Given the description of an element on the screen output the (x, y) to click on. 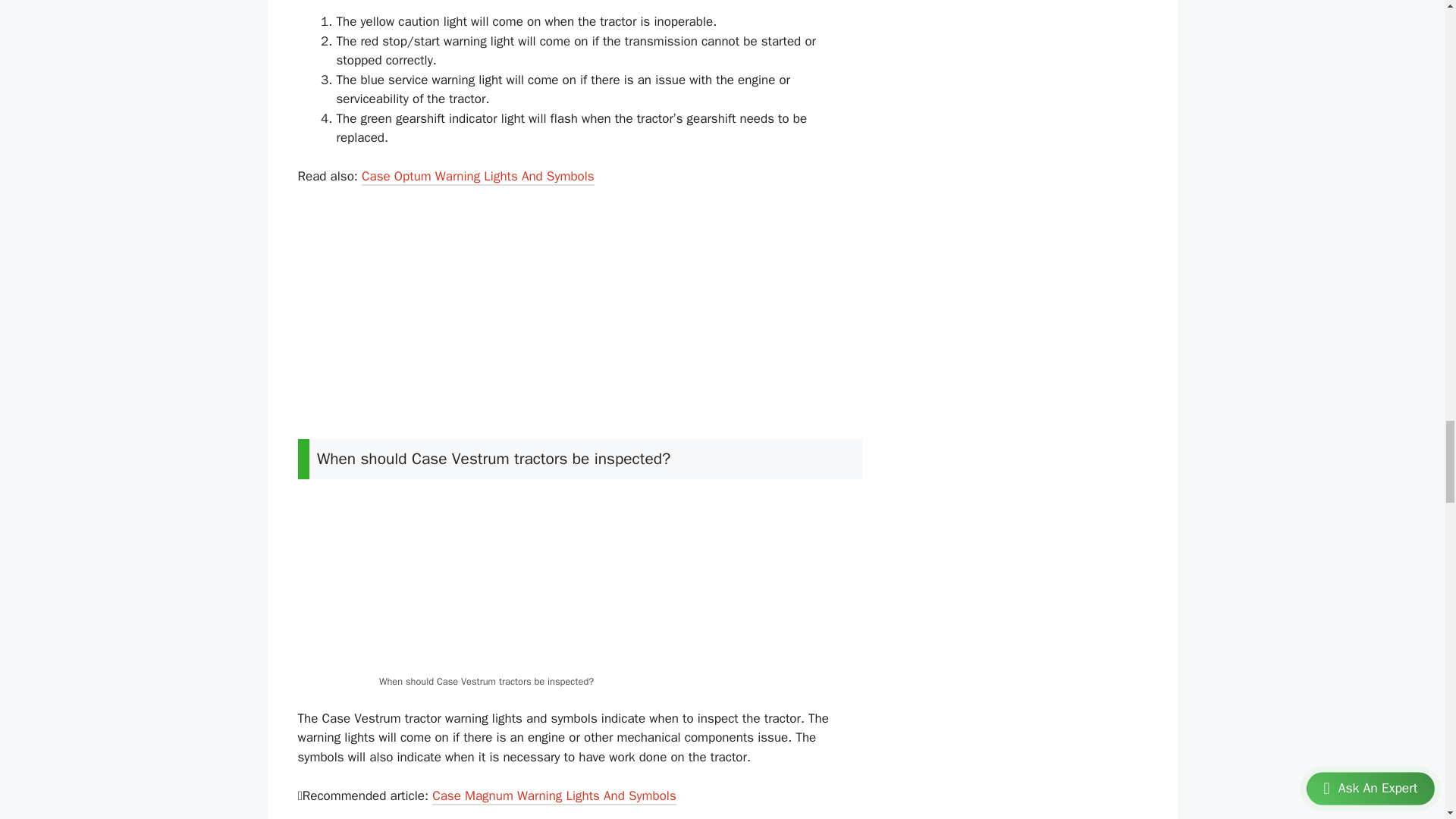
Case Magnum Warning Lights And Symbols (554, 796)
Case Vestrum Warning Lights And Symbols 5 (579, 582)
Case Optum Warning Lights And Symbols (477, 177)
